Given the description of an element on the screen output the (x, y) to click on. 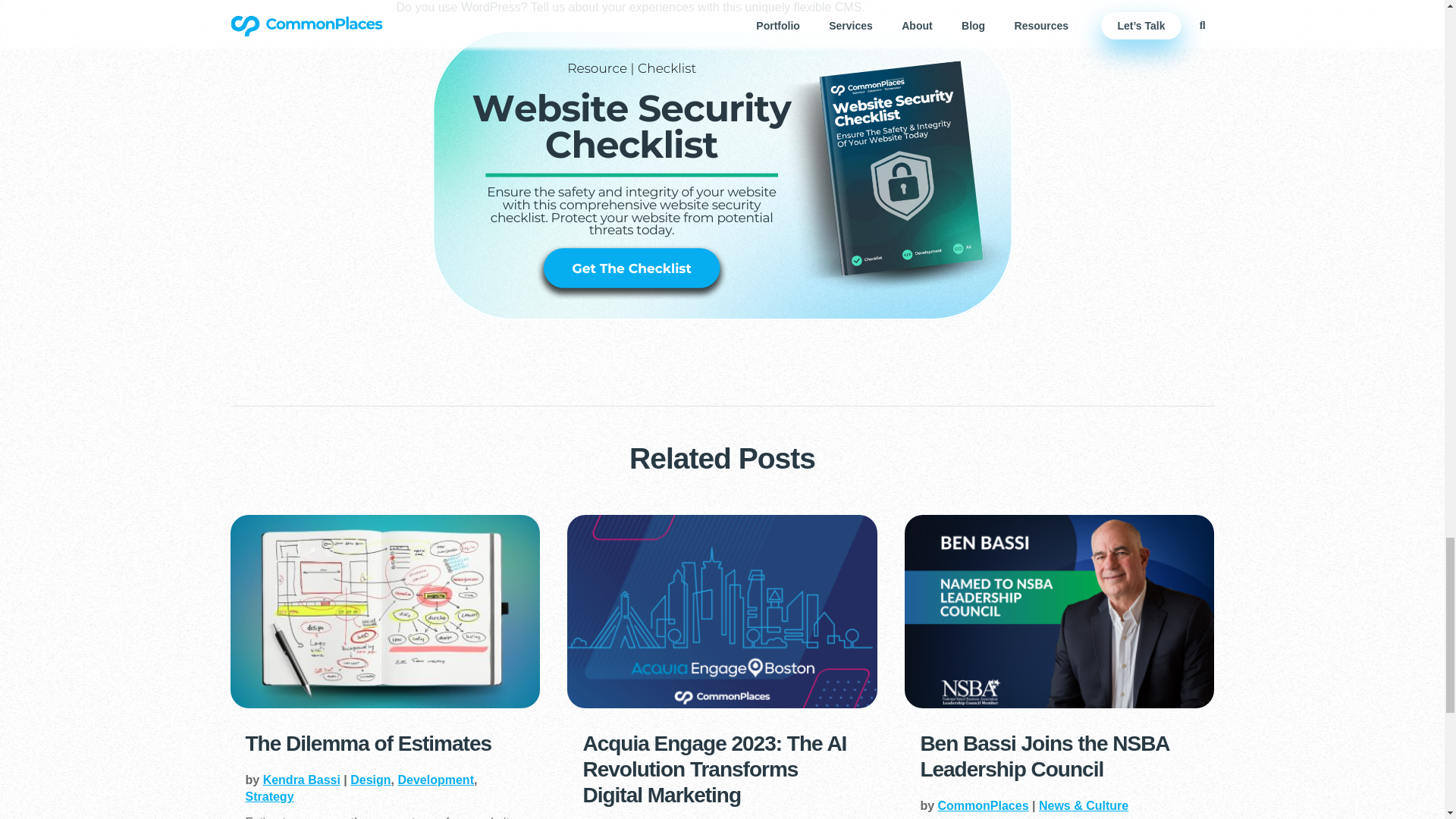
Posts by CommonPlaces (982, 805)
Strategy (270, 796)
Posts by Kendra Bassi (301, 779)
Kendra Bassi (301, 779)
Design (370, 779)
Development (435, 779)
The Dilemma of Estimates (369, 743)
Ben Bassi Joins the NSBA Leadership Council (1044, 756)
